Given the description of an element on the screen output the (x, y) to click on. 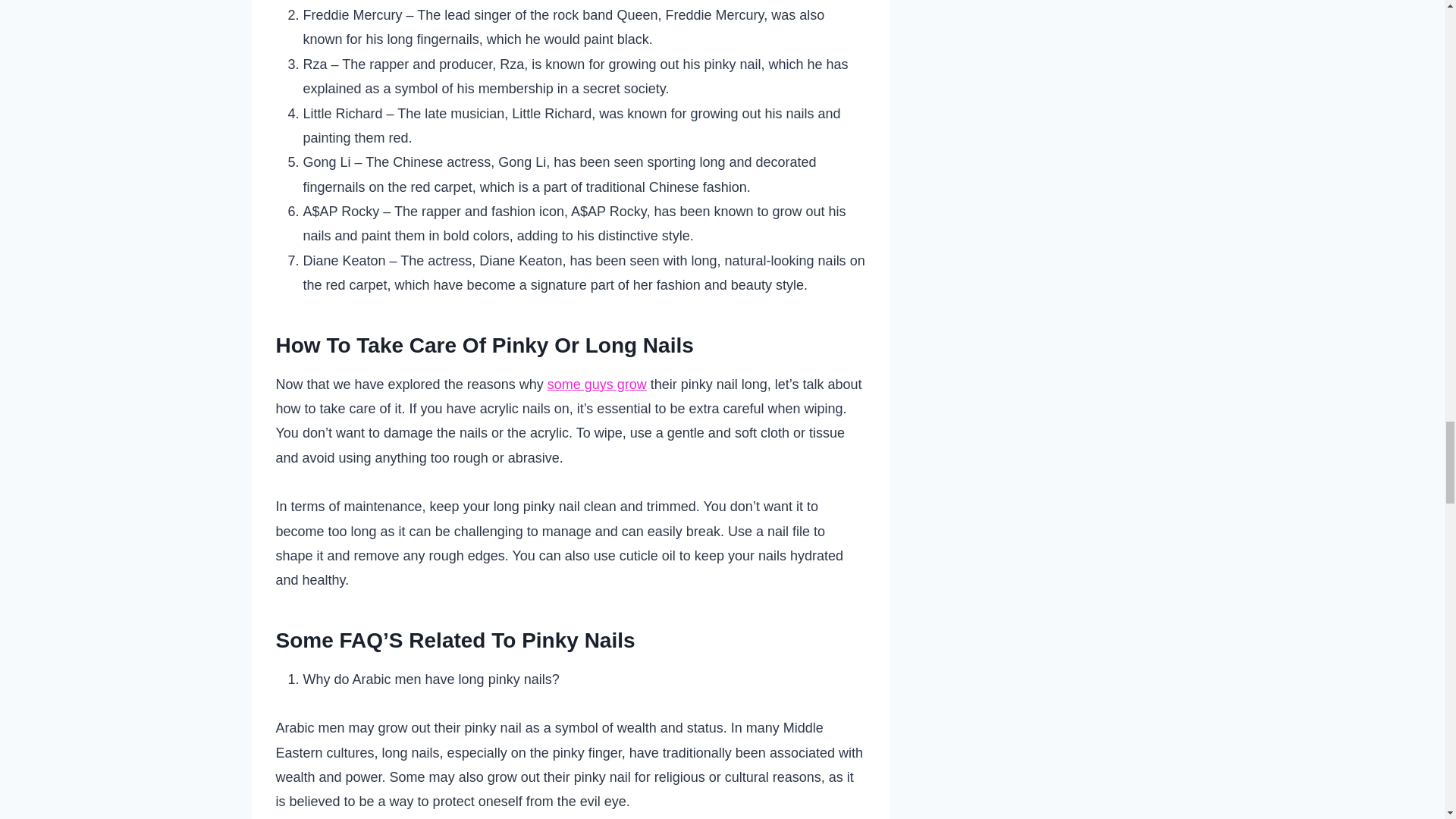
some guys grow (596, 384)
